Given the description of an element on the screen output the (x, y) to click on. 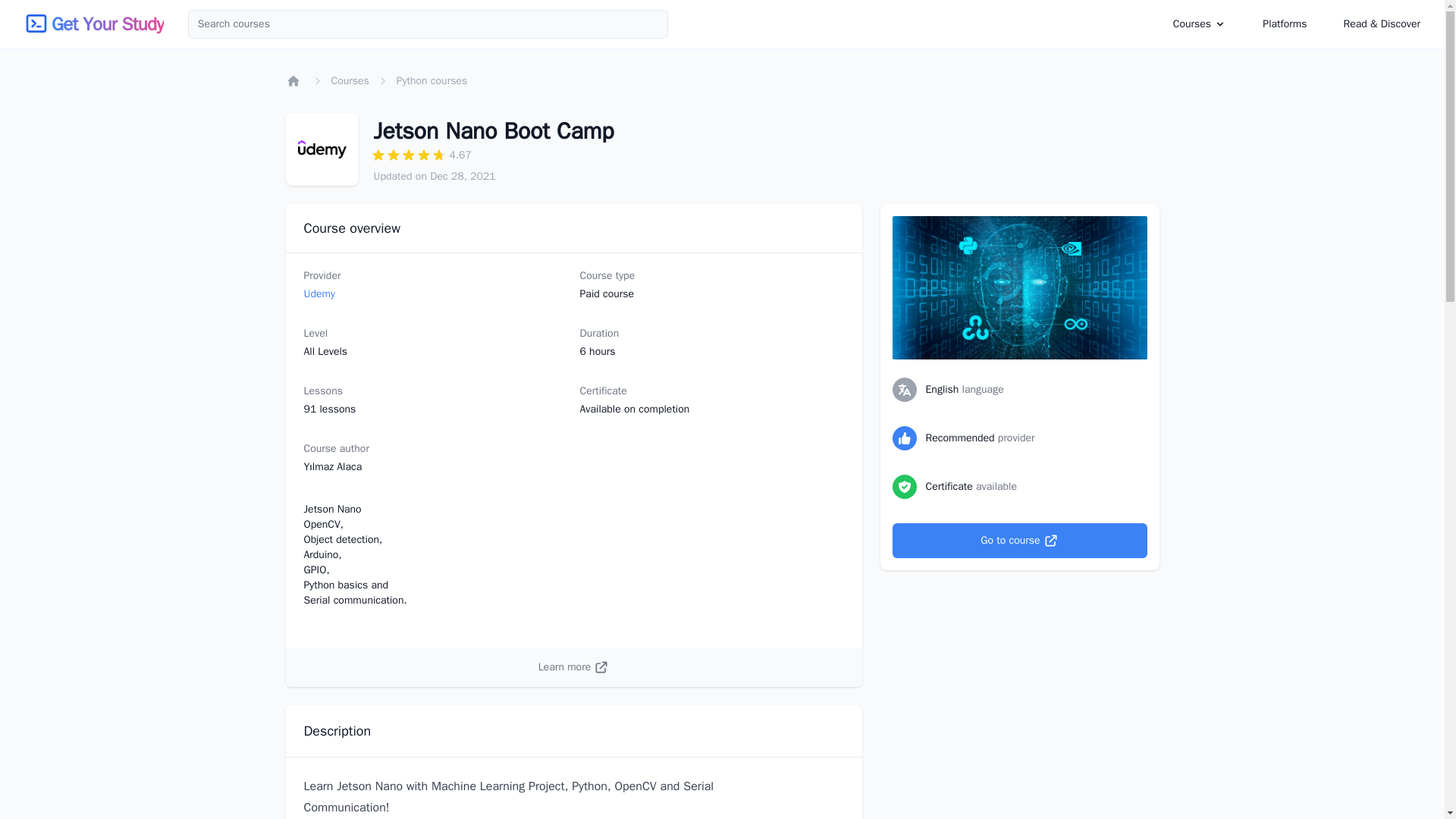
Python courses (431, 80)
Learn more (573, 667)
Courses (1199, 24)
Platforms (1284, 24)
Courses (349, 80)
Udemy (318, 293)
Go to course (1019, 540)
Get Your Study (106, 24)
Courses (1192, 23)
